Given the description of an element on the screen output the (x, y) to click on. 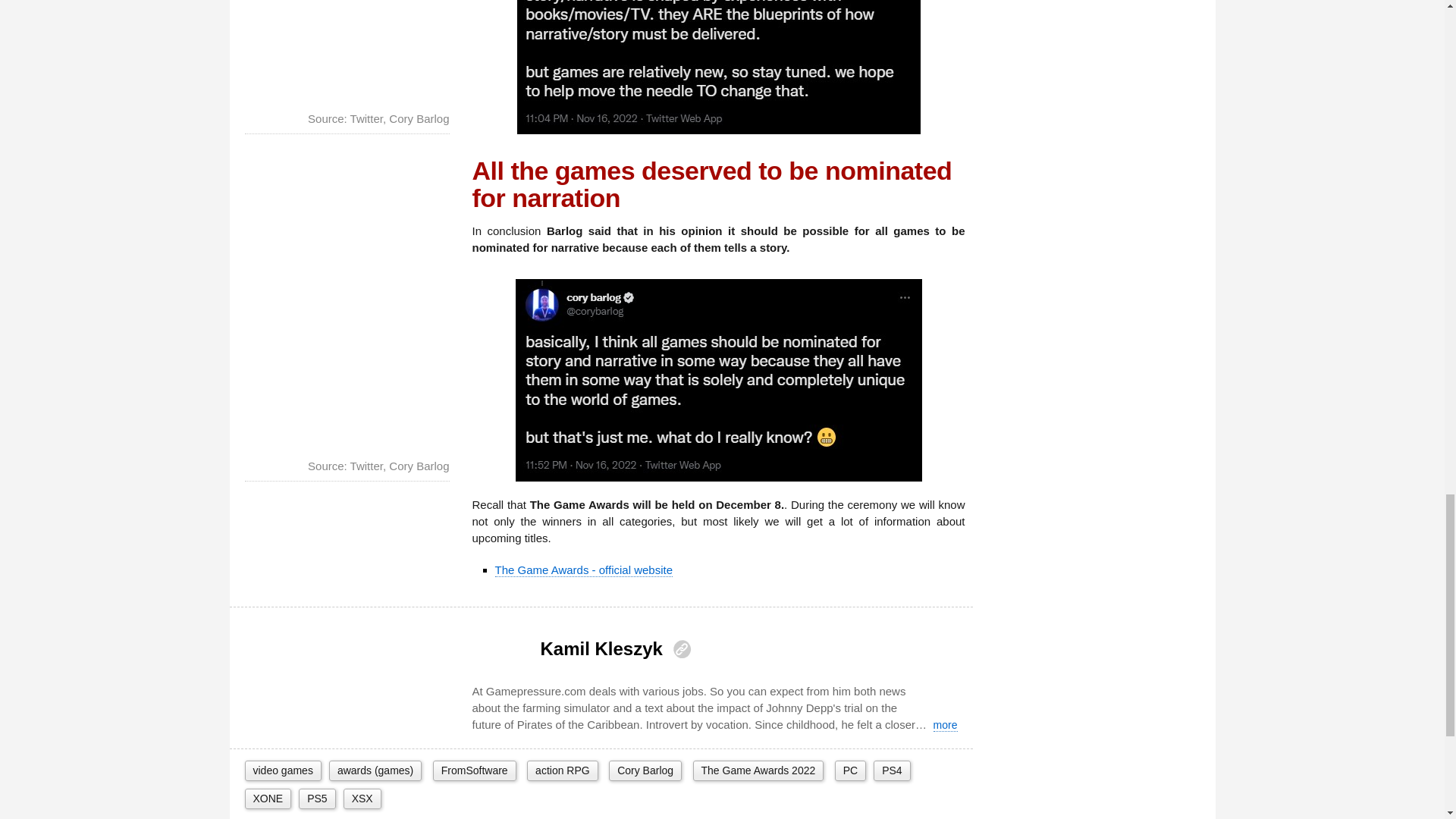
PS4 (891, 770)
Cory Barlog (644, 770)
video games (282, 770)
FromSoftware (474, 770)
PC (850, 770)
action RPG (562, 770)
The Game Awards - official website (583, 570)
The Game Awards 2022 (758, 770)
